Given the description of an element on the screen output the (x, y) to click on. 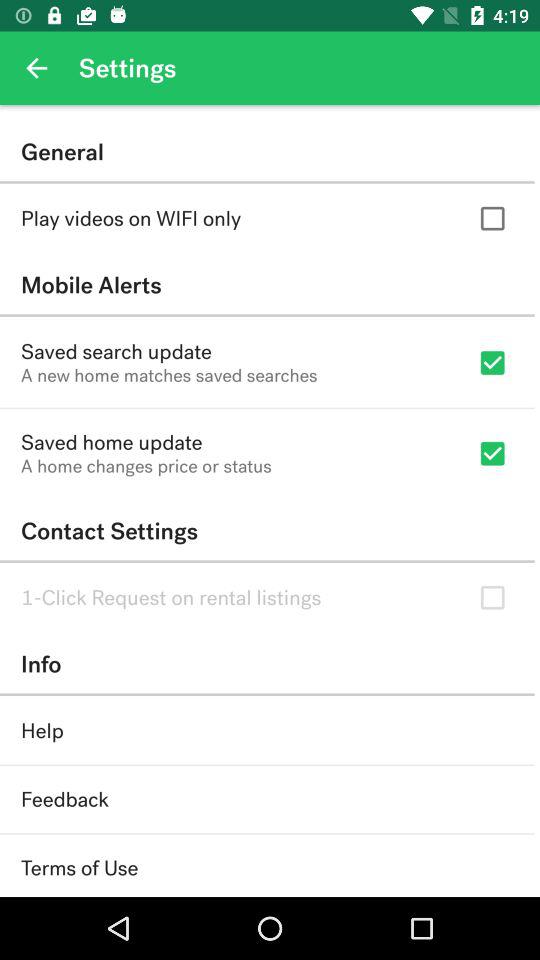
launch play videos on (131, 218)
